Given the description of an element on the screen output the (x, y) to click on. 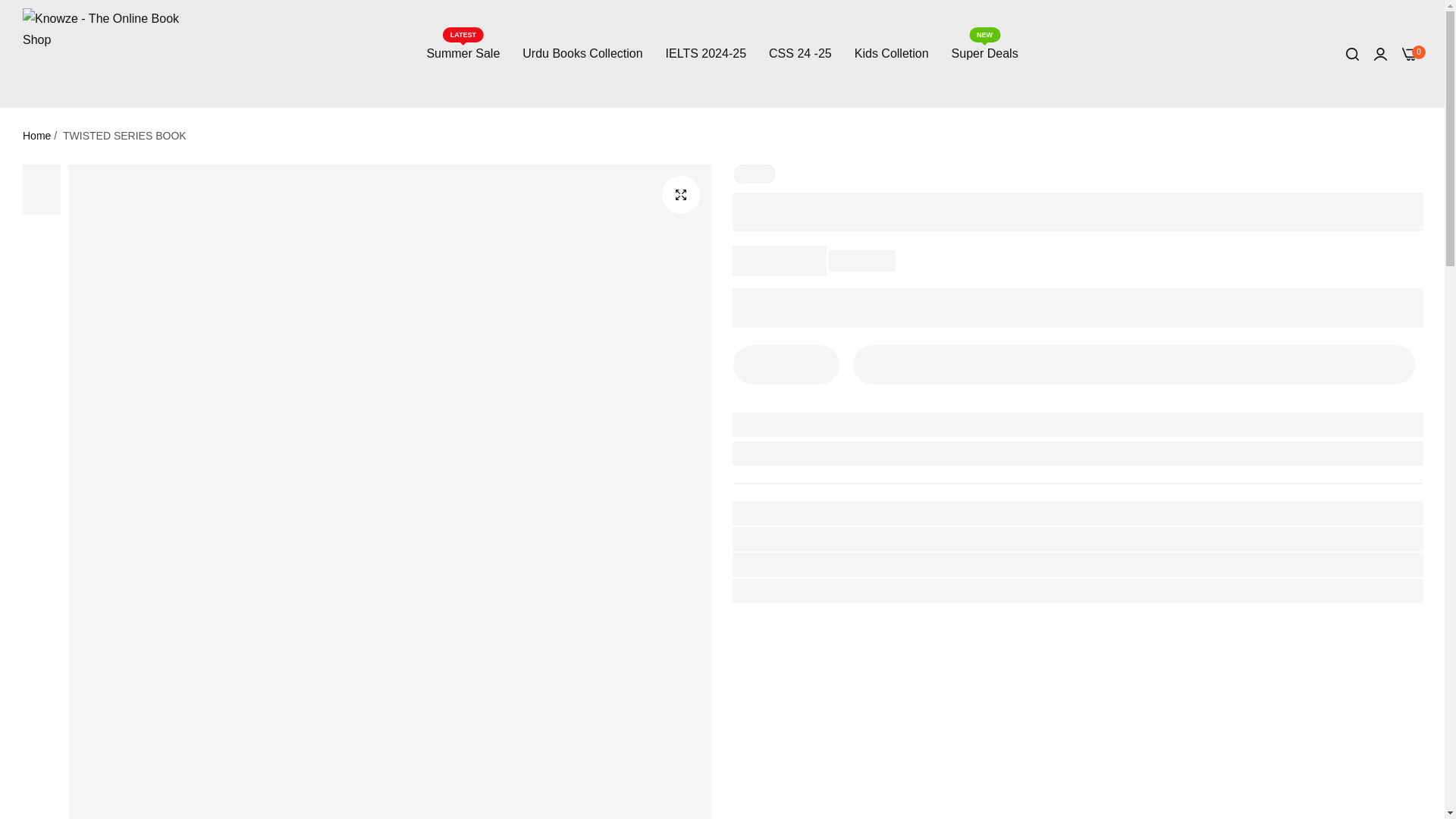
11:11 BIG SALE , (847, 590)
Best Selling Products , (1071, 590)
ADD TO CART (1134, 364)
Best Selling Books , (952, 590)
Knowze - The Online Book Shop (111, 53)
Plus (462, 53)
1 (818, 363)
Newest Products , (786, 363)
